Given the description of an element on the screen output the (x, y) to click on. 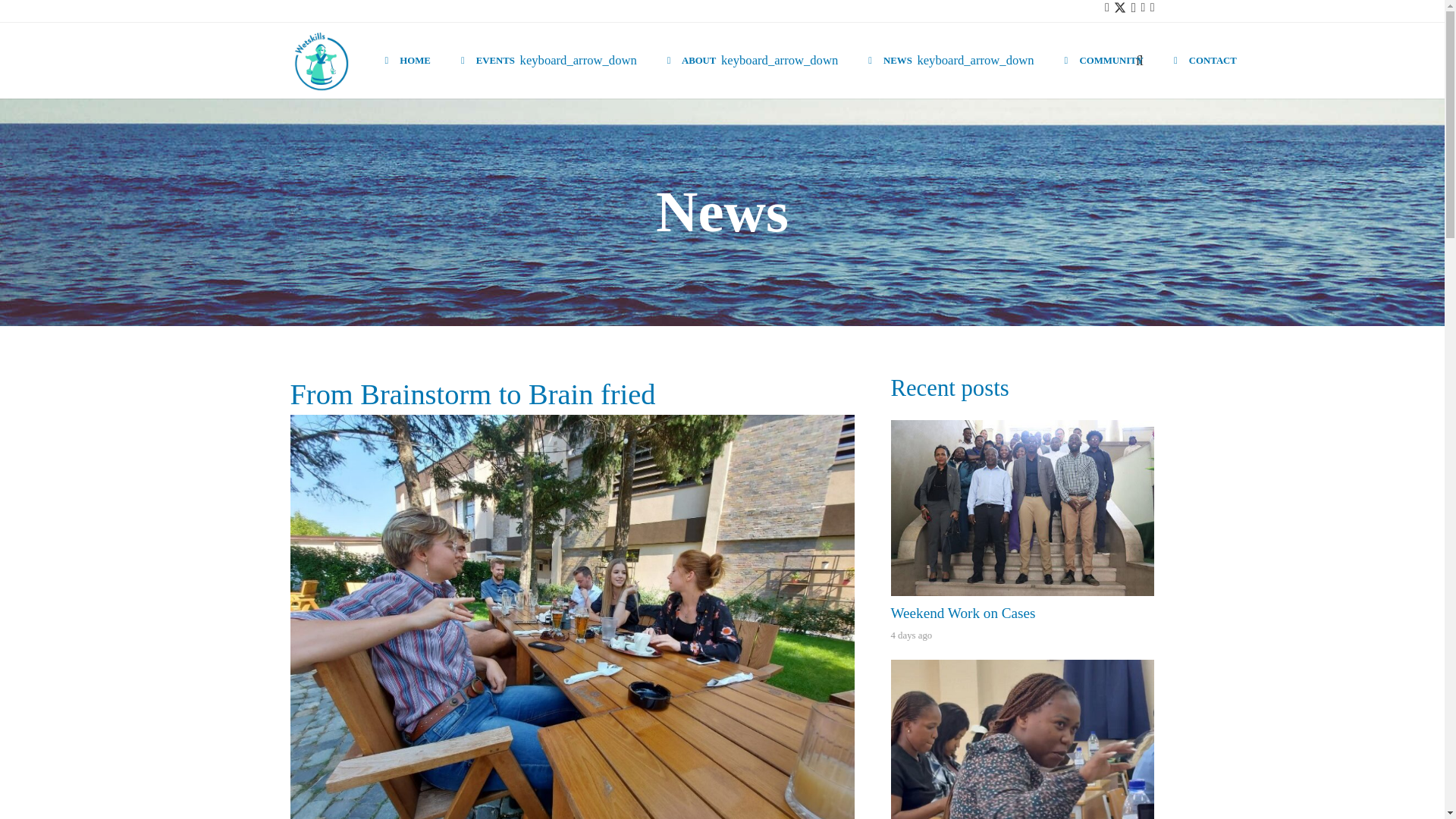
CONTACT (1205, 60)
EVENTS (548, 60)
COMMUNITY (1103, 60)
Twitter (1119, 7)
NEWS (950, 60)
Weekend Work on Cases (962, 612)
ABOUT (752, 60)
HOME (407, 60)
